Given the description of an element on the screen output the (x, y) to click on. 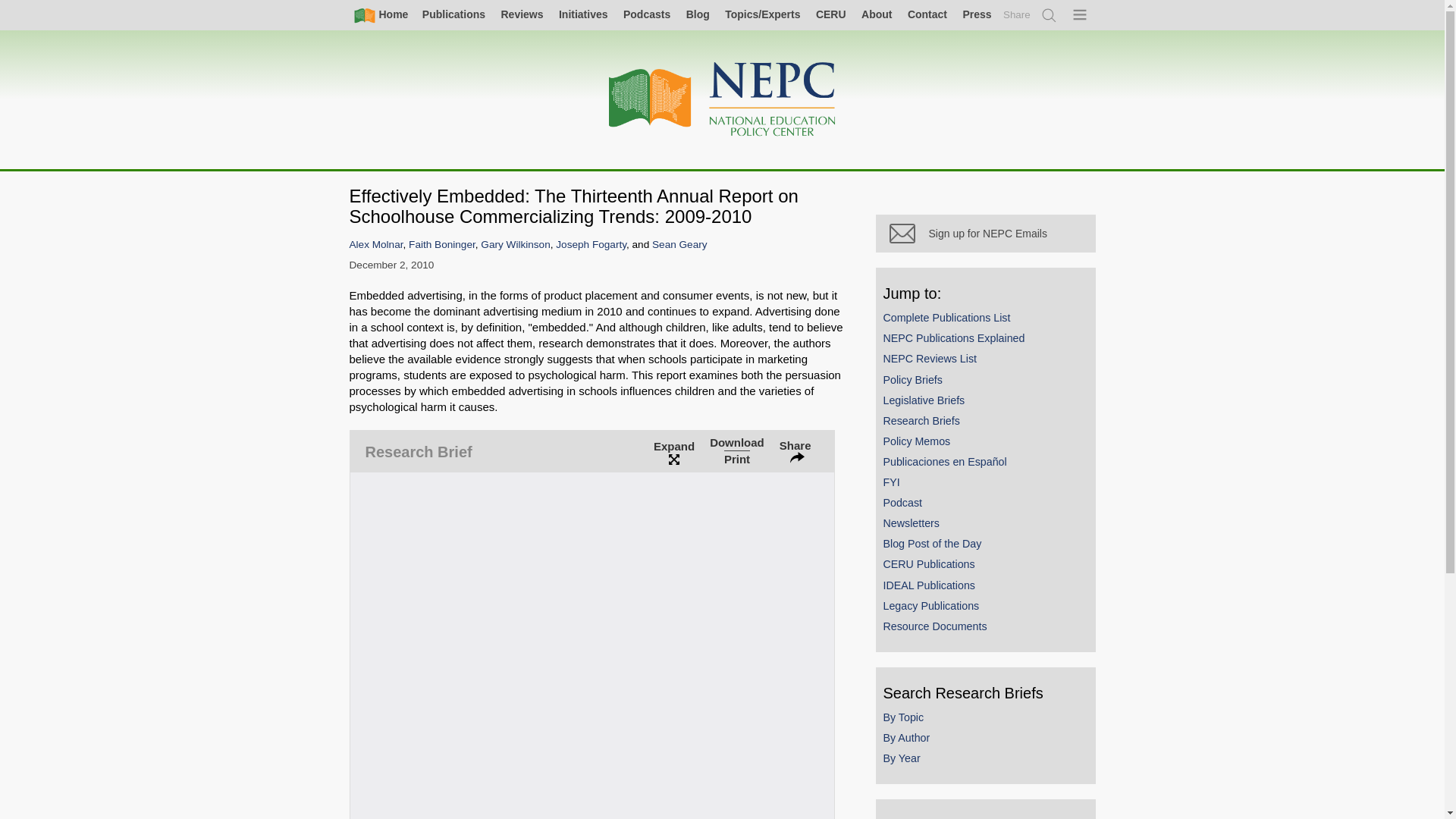
Podcasts (647, 13)
Blog (697, 13)
All Archived NEPC Publications (454, 13)
All NEPC Reviews (521, 13)
Reviews (521, 13)
All Podcast Episodes (647, 13)
Search (1049, 14)
Initiatives (582, 13)
